Given the description of an element on the screen output the (x, y) to click on. 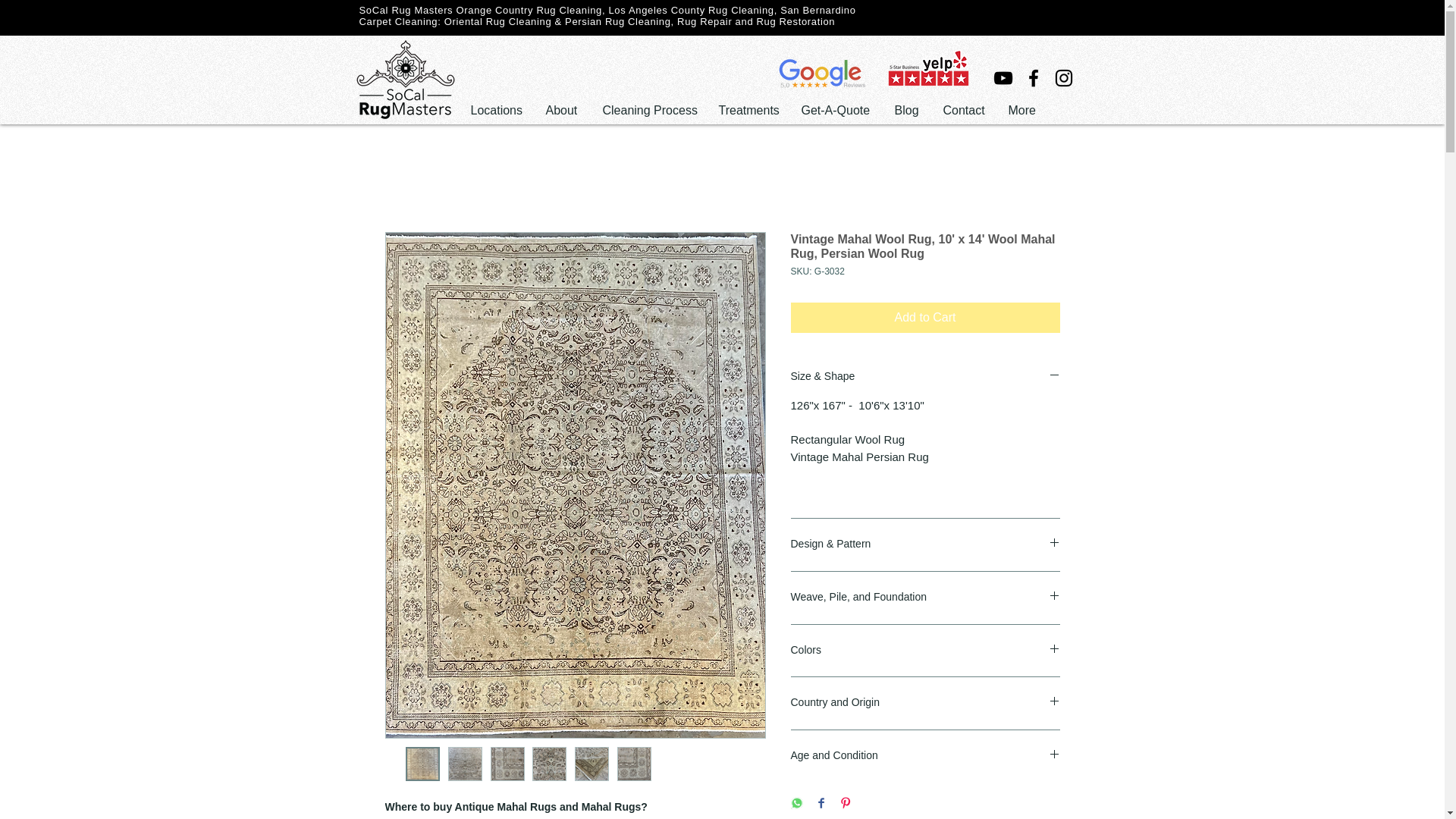
Get-A-Quote (836, 110)
Blog (906, 110)
reviews google best rated rug cleaner (821, 72)
best persian rug cleaning and restoration in socal (928, 68)
Cleaning santa ana, laguna niguel, irvine and redlands (406, 78)
Add to Cart (924, 317)
Age and Condition (924, 756)
Country and Origin (924, 703)
Colors (924, 650)
Cleaning Process (649, 110)
Contact (963, 110)
About (562, 110)
Weave, Pile, and Foundation (924, 597)
